Given the description of an element on the screen output the (x, y) to click on. 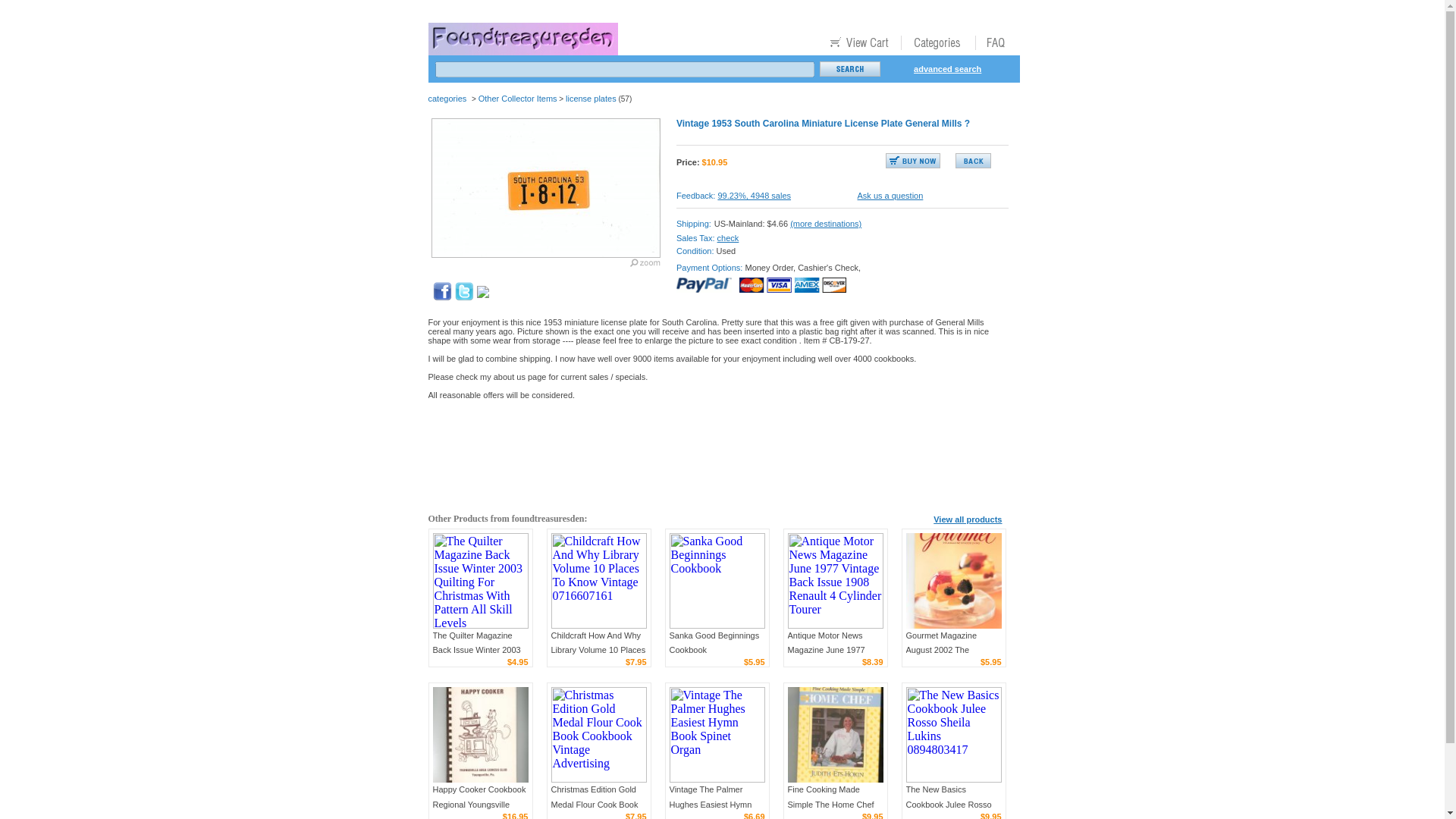
Sanka Good Beginnings Cookbook (713, 642)
categories (446, 98)
The New Basics Cookbook Julee Rosso Sheila Lukins 0894803417 (953, 734)
Sanka Good Beginnings Cookbook (716, 580)
